Given the description of an element on the screen output the (x, y) to click on. 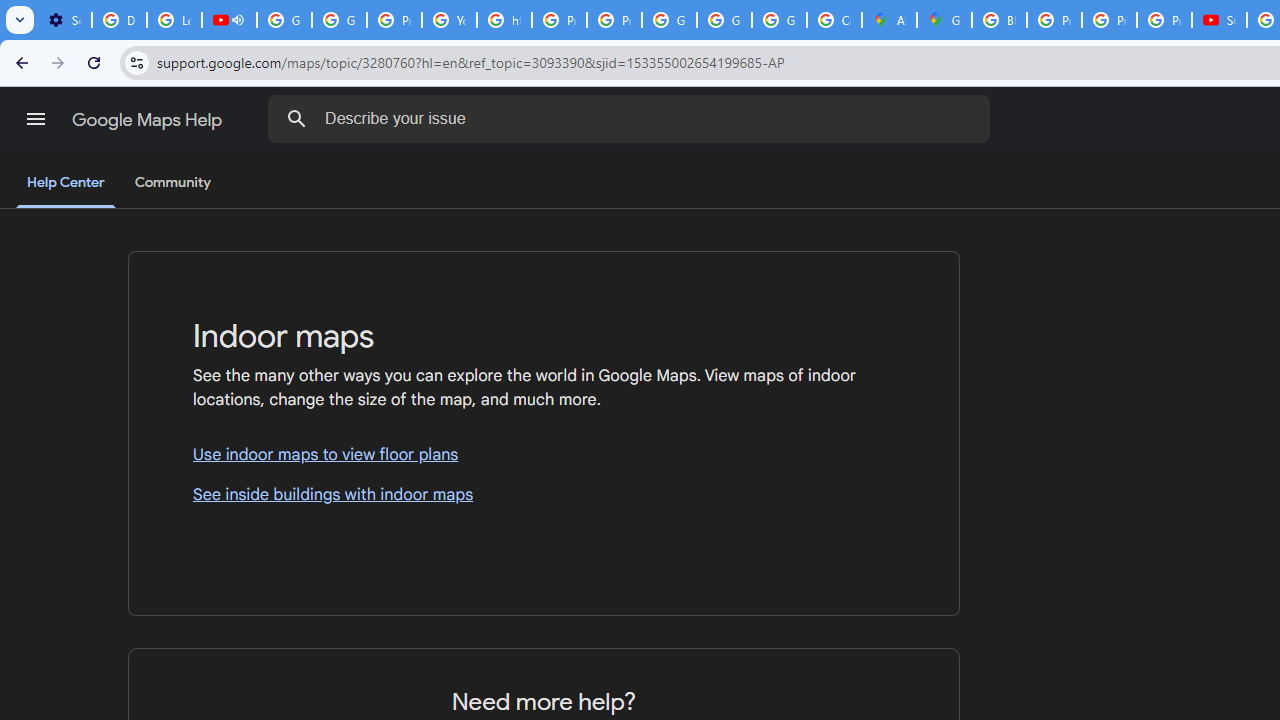
Learn how to find your photos - Google Photos Help (174, 20)
Privacy Help Center - Policies Help (394, 20)
Settings - Customize profile (64, 20)
Main menu (35, 119)
Create your Google Account (833, 20)
